Given the description of an element on the screen output the (x, y) to click on. 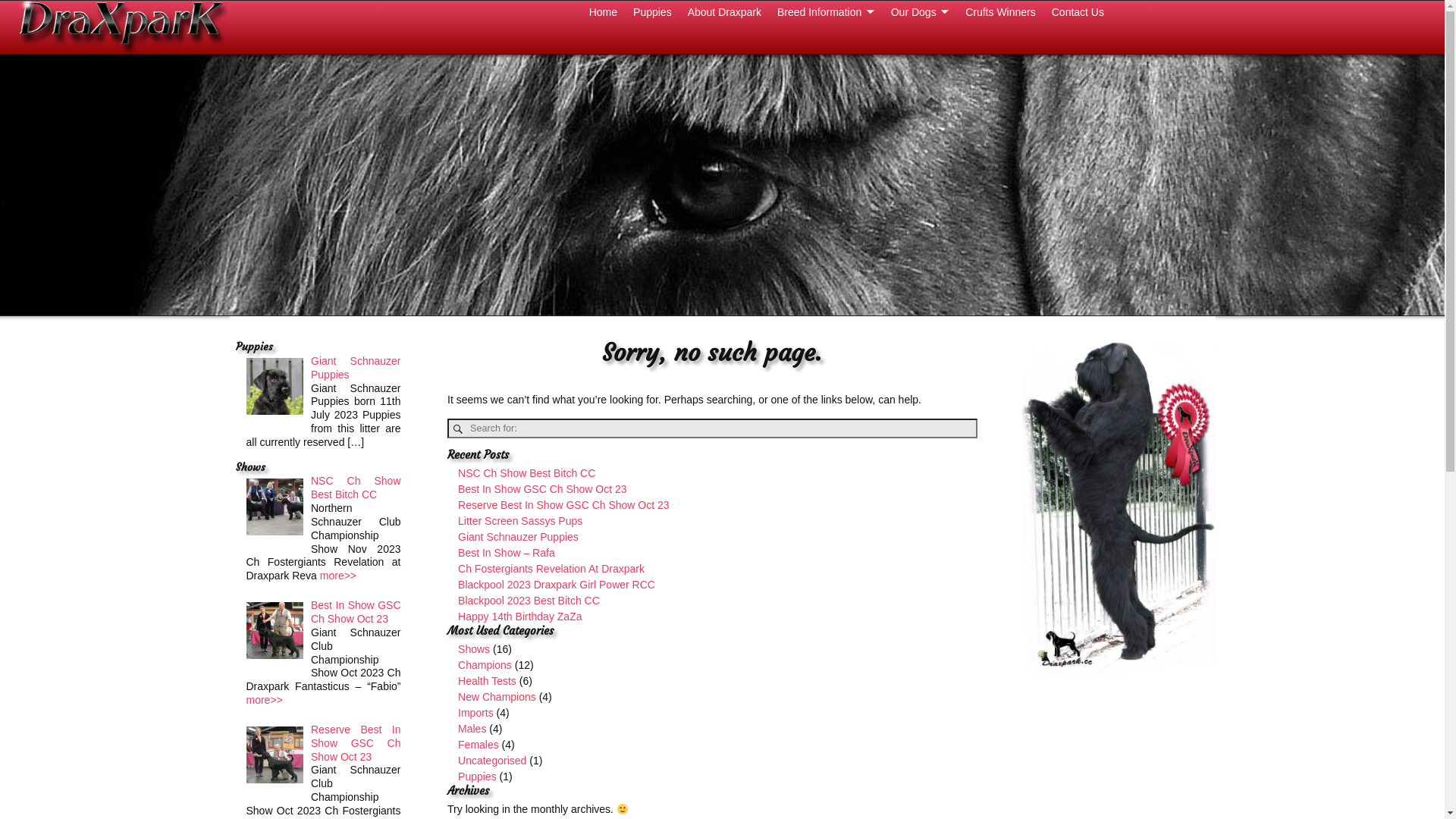
NSC Ch Show Best Bitch CC Element type: text (526, 473)
Ch Fostergiants Revelation At Draxpark Element type: text (551, 568)
Reserve Best In Show GSC Ch Show Oct 23 Element type: text (355, 742)
Best In Show GSC Ch Show Oct 23 Element type: text (542, 489)
Happy 14th Birthday ZaZa Element type: text (519, 616)
more>> Element type: text (263, 699)
NSC Ch Show Best Bitch CC Element type: text (355, 487)
Uncategorised Element type: text (492, 760)
Our Dogs Element type: text (919, 12)
Giant Schnauzer Puppies Element type: text (355, 367)
Puppies Element type: text (477, 776)
Females Element type: text (478, 744)
Imports Element type: text (475, 712)
Males Element type: text (472, 728)
Champions Element type: text (484, 664)
Crufts Winners Element type: text (1000, 12)
Contact Us Element type: text (1077, 12)
Reserve Best In Show GSC Ch Show Oct 23 Element type: text (563, 504)
Blackpool 2023 Best Bitch CC Element type: text (528, 600)
New Champions Element type: text (497, 696)
Home Element type: text (602, 12)
Puppies Element type: text (652, 12)
Health Tests Element type: text (487, 680)
Shows Element type: text (473, 649)
Blackpool 2023 Draxpark Girl Power RCC Element type: text (556, 584)
more>> Element type: text (338, 575)
Giant Schnauzer Puppies Element type: text (518, 536)
Breed Information Element type: text (825, 12)
Litter Screen Sassys Pups Element type: text (520, 520)
About Draxpark Element type: text (723, 12)
Best In Show GSC Ch Show Oct 23 Element type: text (355, 611)
